Given the description of an element on the screen output the (x, y) to click on. 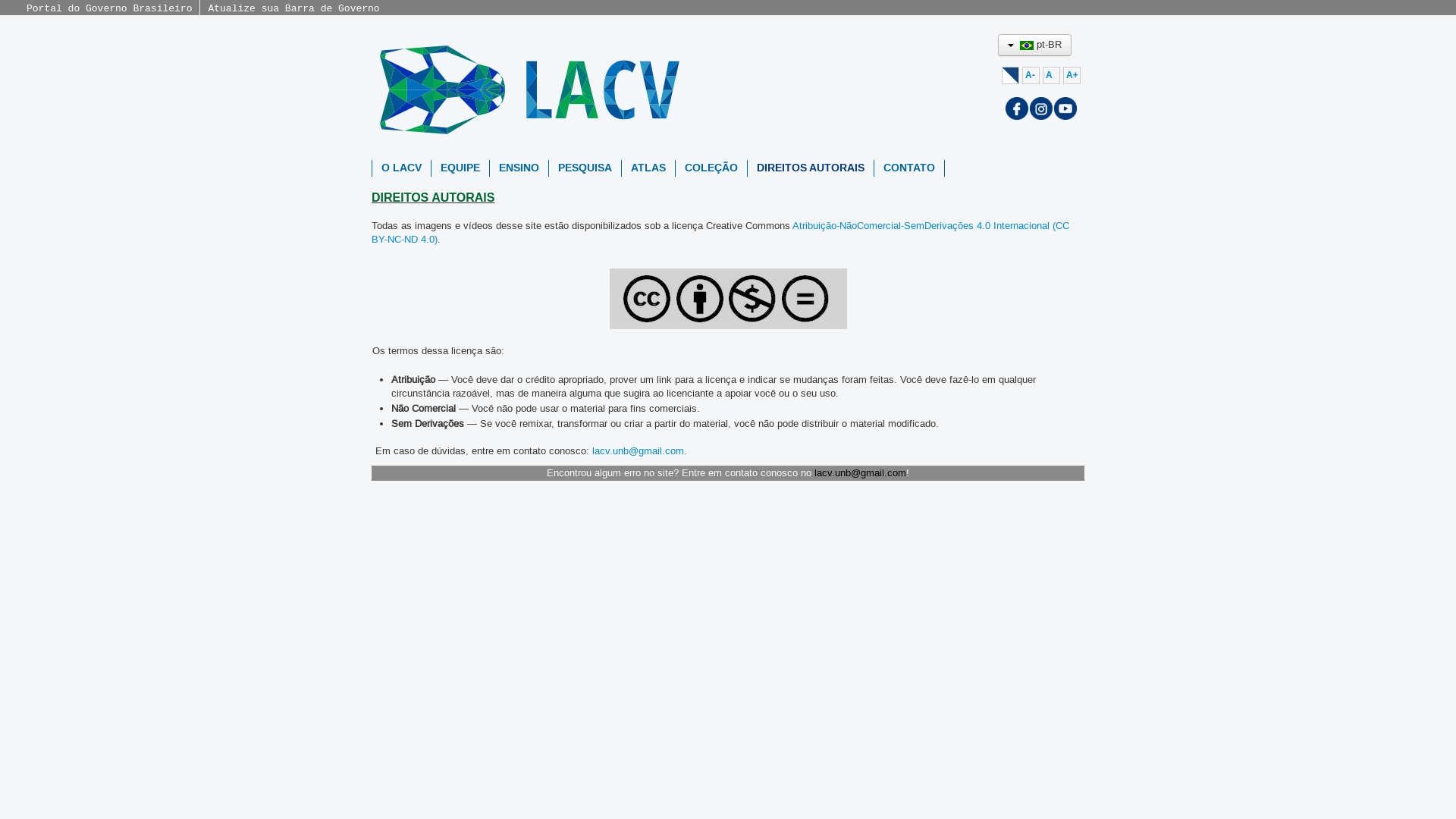
Portal do Governo Brasileiro Element type: text (108, 8)
  pt-BR Element type: text (1034, 45)
Atualize sua Barra de Governo Element type: text (293, 8)
A- Element type: text (1030, 75)
CONTATO Element type: text (909, 168)
PESQUISA Element type: text (585, 168)
ENSINO Element type: text (518, 168)
ATLAS Element type: text (647, 168)
DIREITOS AUTORAIS Element type: text (810, 168)
A Element type: text (1051, 75)
A+ Element type: text (1071, 75)
EQUIPE Element type: text (460, 168)
lacv.unb@gmail.com Element type: text (638, 451)
O LACV Element type: text (401, 168)
